Given the description of an element on the screen output the (x, y) to click on. 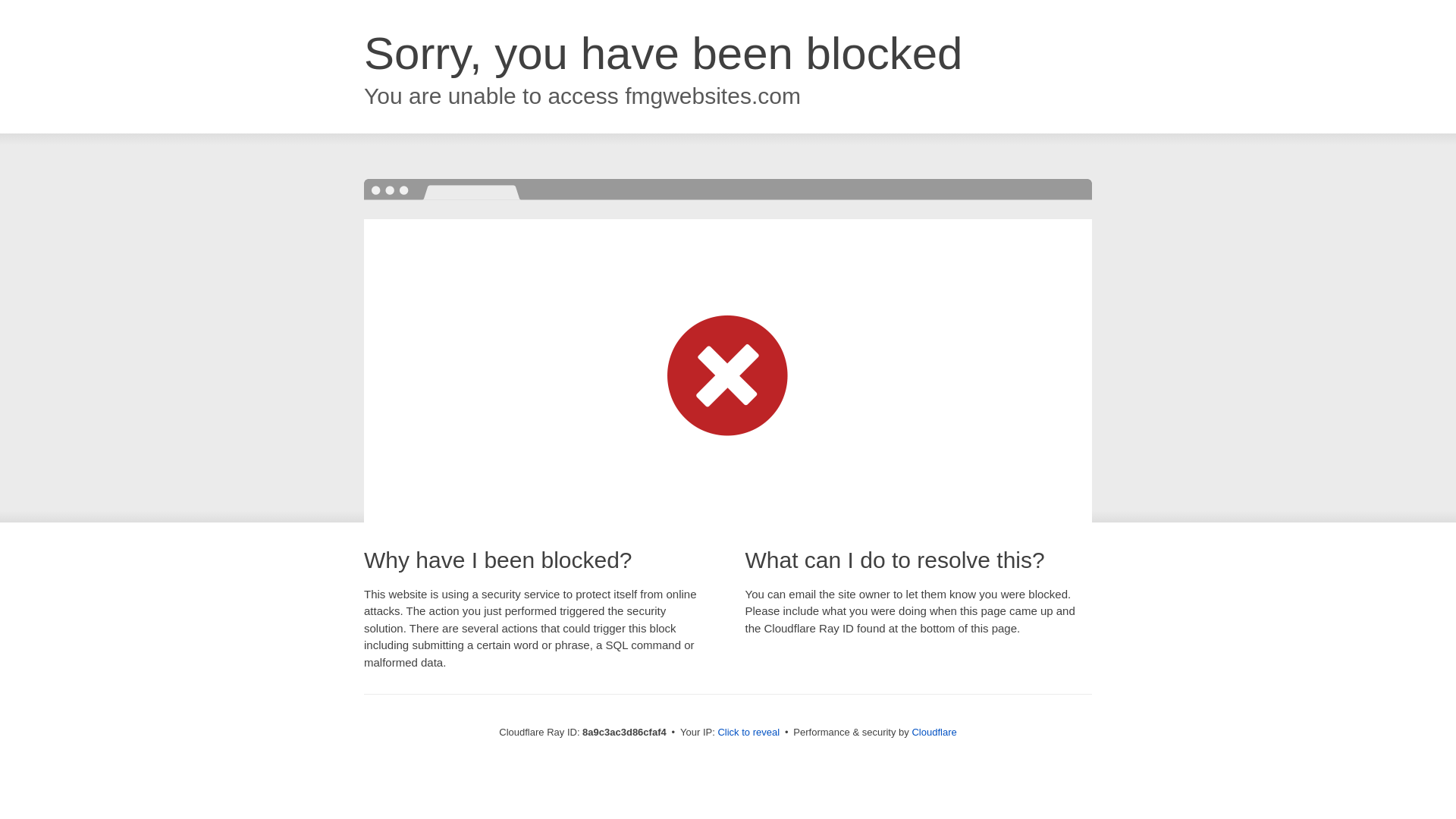
Click to reveal (747, 732)
Cloudflare (933, 731)
